Given the description of an element on the screen output the (x, y) to click on. 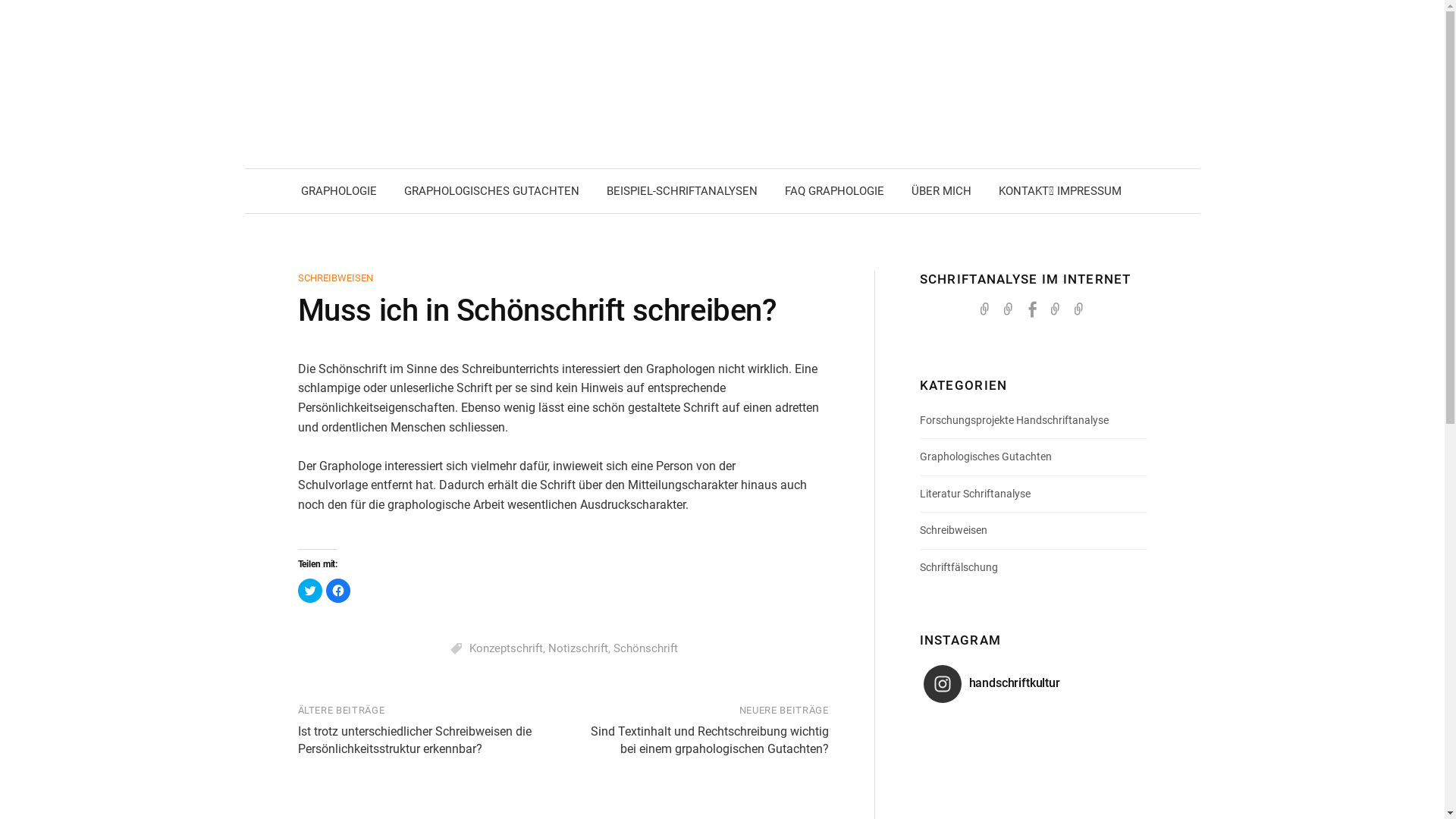
Notizschrift Element type: text (578, 648)
Literatur Schriftanalyse Element type: text (974, 493)
BEISPIEL-SCHRIFTANALYSEN Element type: text (682, 191)
Forschungsprojekte Handschriftanalyse Element type: text (1013, 420)
handschriftkultur Element type: text (1010, 683)
Schreibweisen Element type: text (953, 530)
SCHREIBWEISEN Element type: text (334, 277)
GRAPHOLOGISCHES GUTACHTEN Element type: text (490, 191)
FAQ GRAPHOLOGIE Element type: text (833, 191)
GRAPHOLOGIE Element type: text (337, 191)
Suche Element type: text (17, 17)
Graphologisches Gutachten Element type: text (985, 456)
Konzeptschrift Element type: text (505, 648)
